Given the description of an element on the screen output the (x, y) to click on. 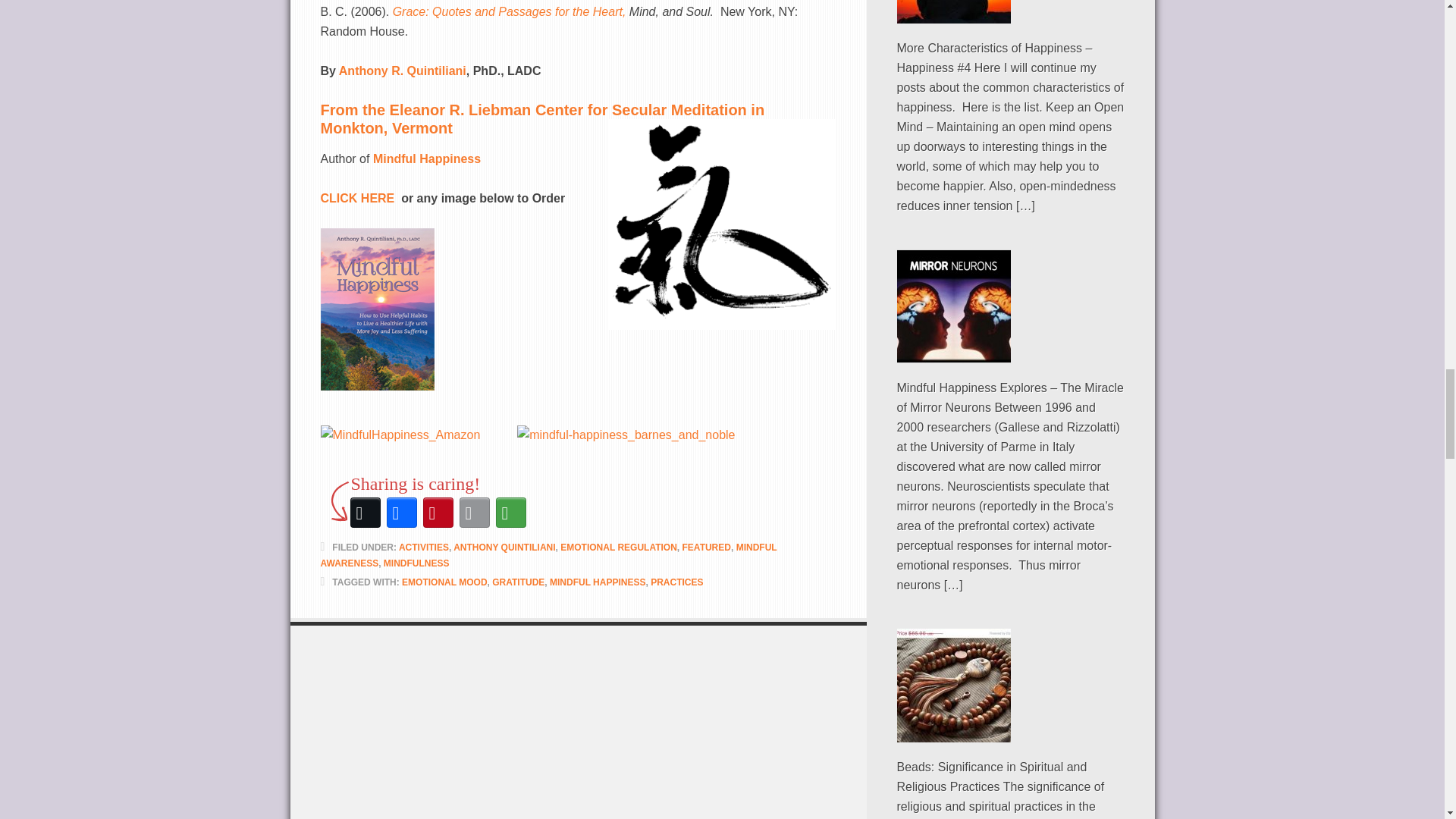
Dr Anthony Quintiliani (400, 70)
More Options (511, 512)
Facebook (402, 512)
 Anthony R. Quintiliani (400, 70)
Email This (475, 512)
Grace: Quotes and Passages for the Heart,  (510, 11)
Pinterest (438, 512)
The Eleanor R. Liebman Center (542, 118)
Mindful Happiness - Post on Media Crush  (426, 158)
